Given the description of an element on the screen output the (x, y) to click on. 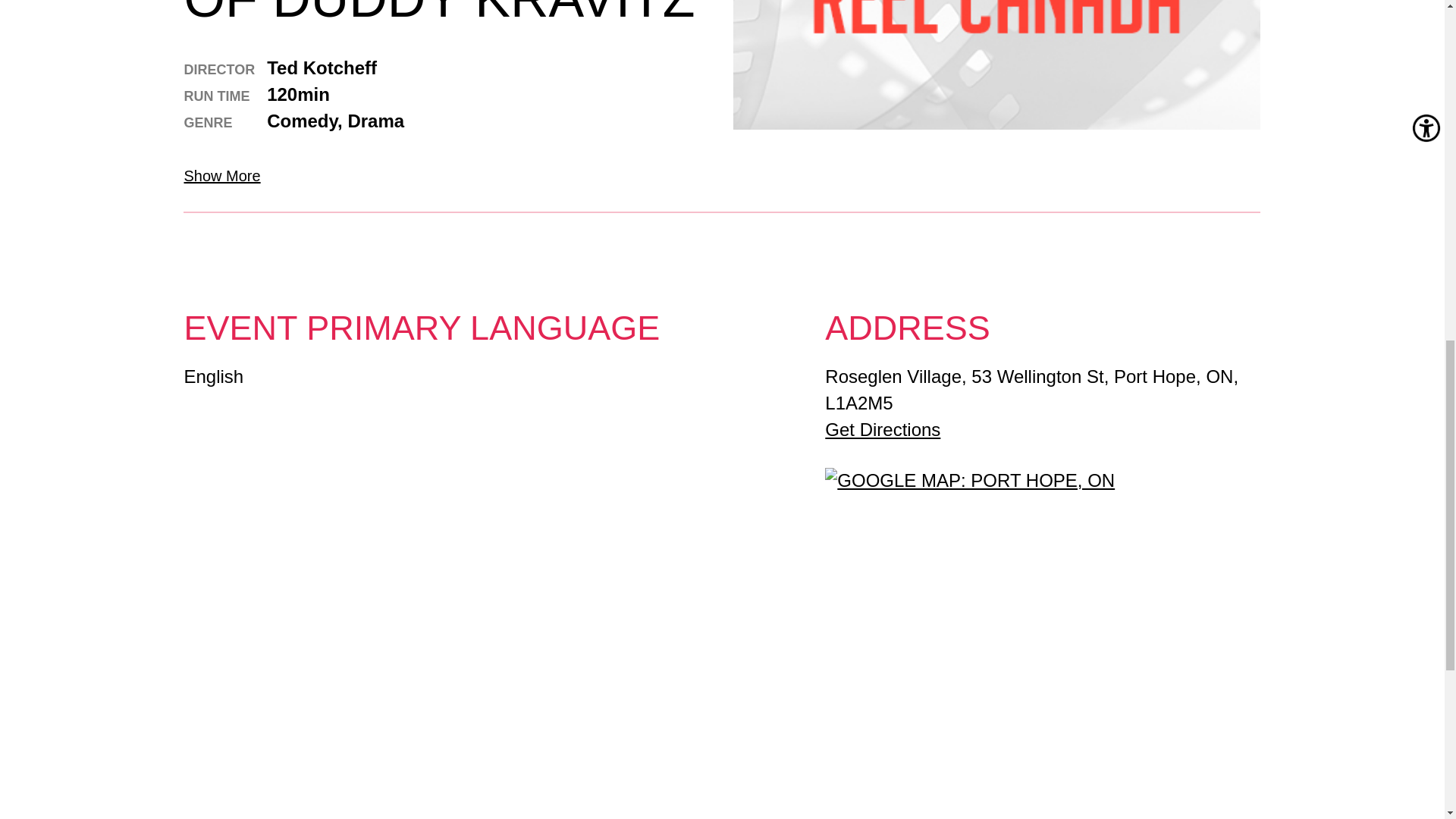
Get Directions (882, 429)
THE APPRENTICESHIP OF DUDDY KRAVITZ (446, 10)
Show More (446, 176)
